Given the description of an element on the screen output the (x, y) to click on. 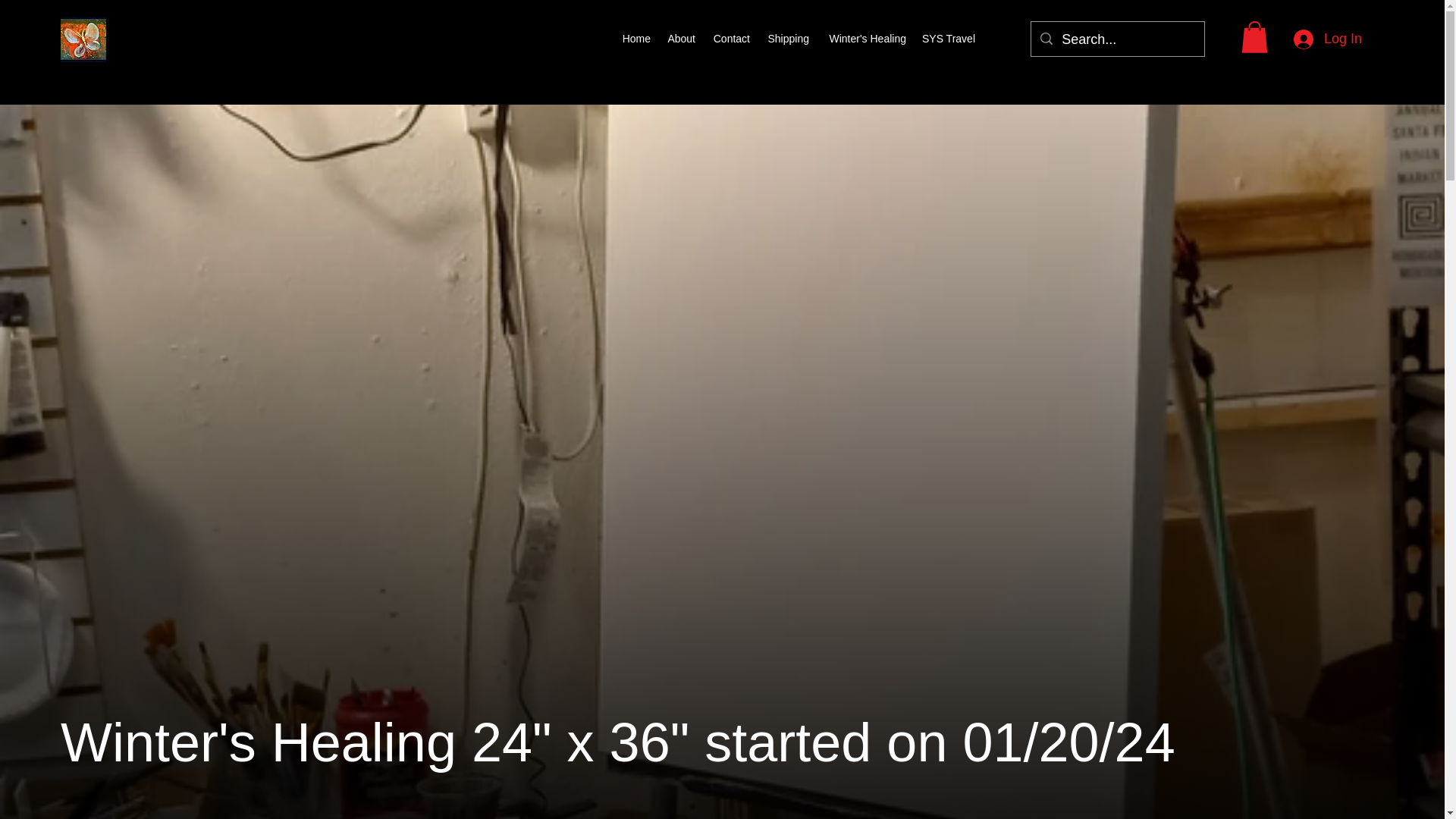
Winter's Healing (865, 38)
Home (635, 38)
Contact (730, 38)
About (680, 38)
Log In (1327, 39)
SYS Travel (948, 38)
Shipping (786, 38)
